Given the description of an element on the screen output the (x, y) to click on. 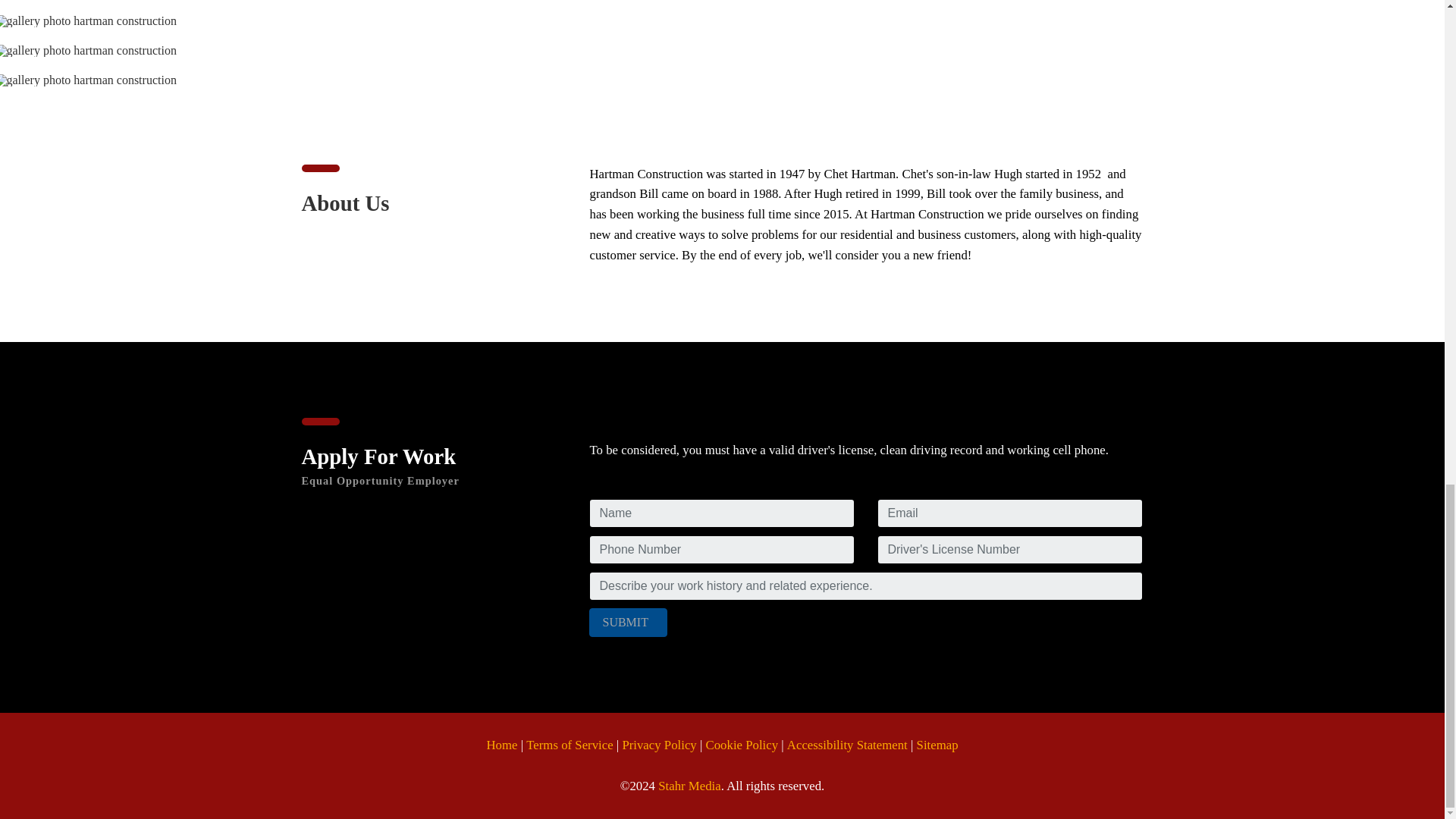
SUBMIT   (627, 622)
Terms of Service (568, 745)
Accessibility Statement (847, 745)
Cookie Policy (742, 745)
Sitemap (937, 745)
Home (501, 745)
Privacy Policy (658, 745)
Stahr Media (689, 786)
